Given the description of an element on the screen output the (x, y) to click on. 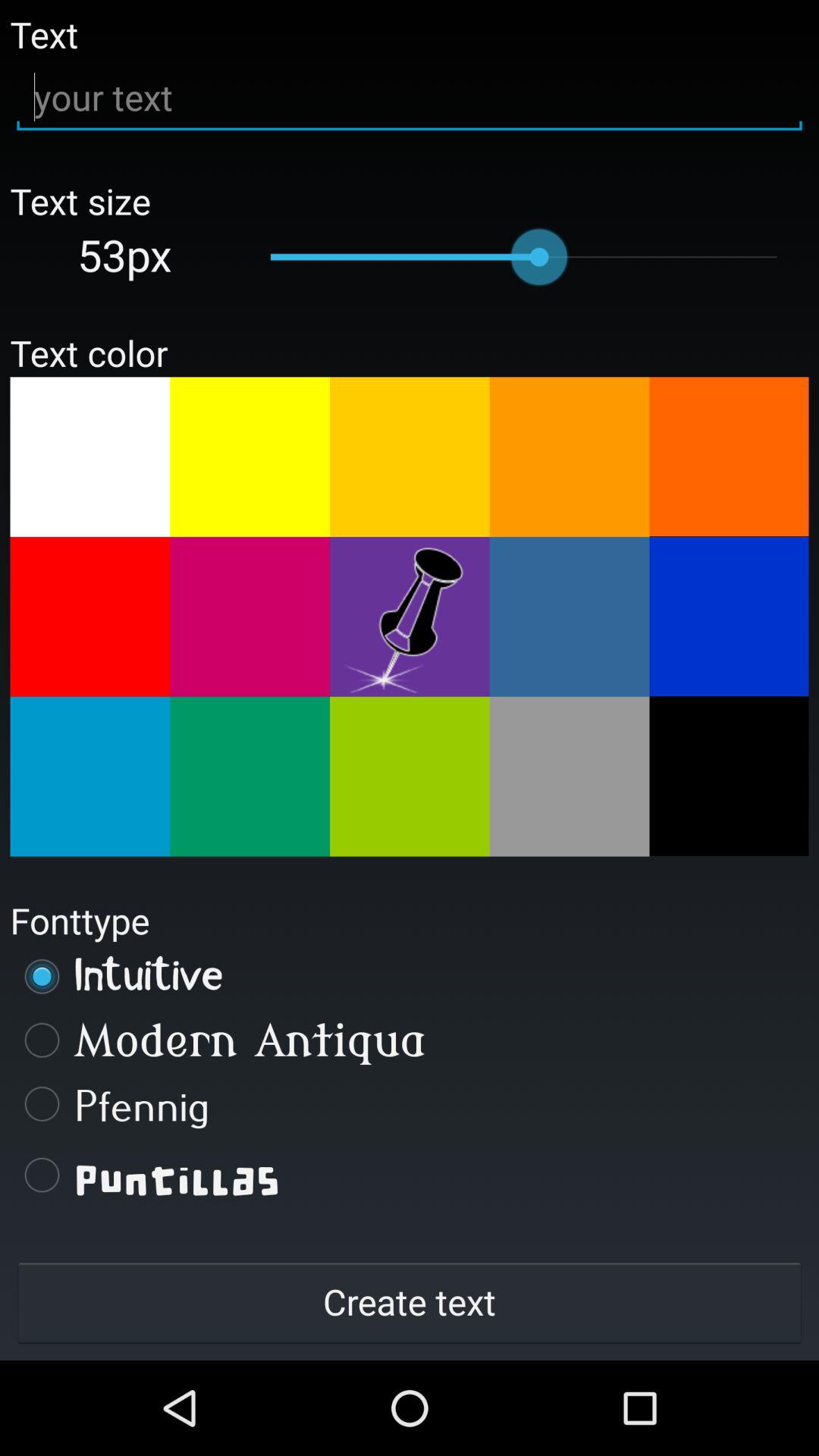
change colour (90, 616)
